Given the description of an element on the screen output the (x, y) to click on. 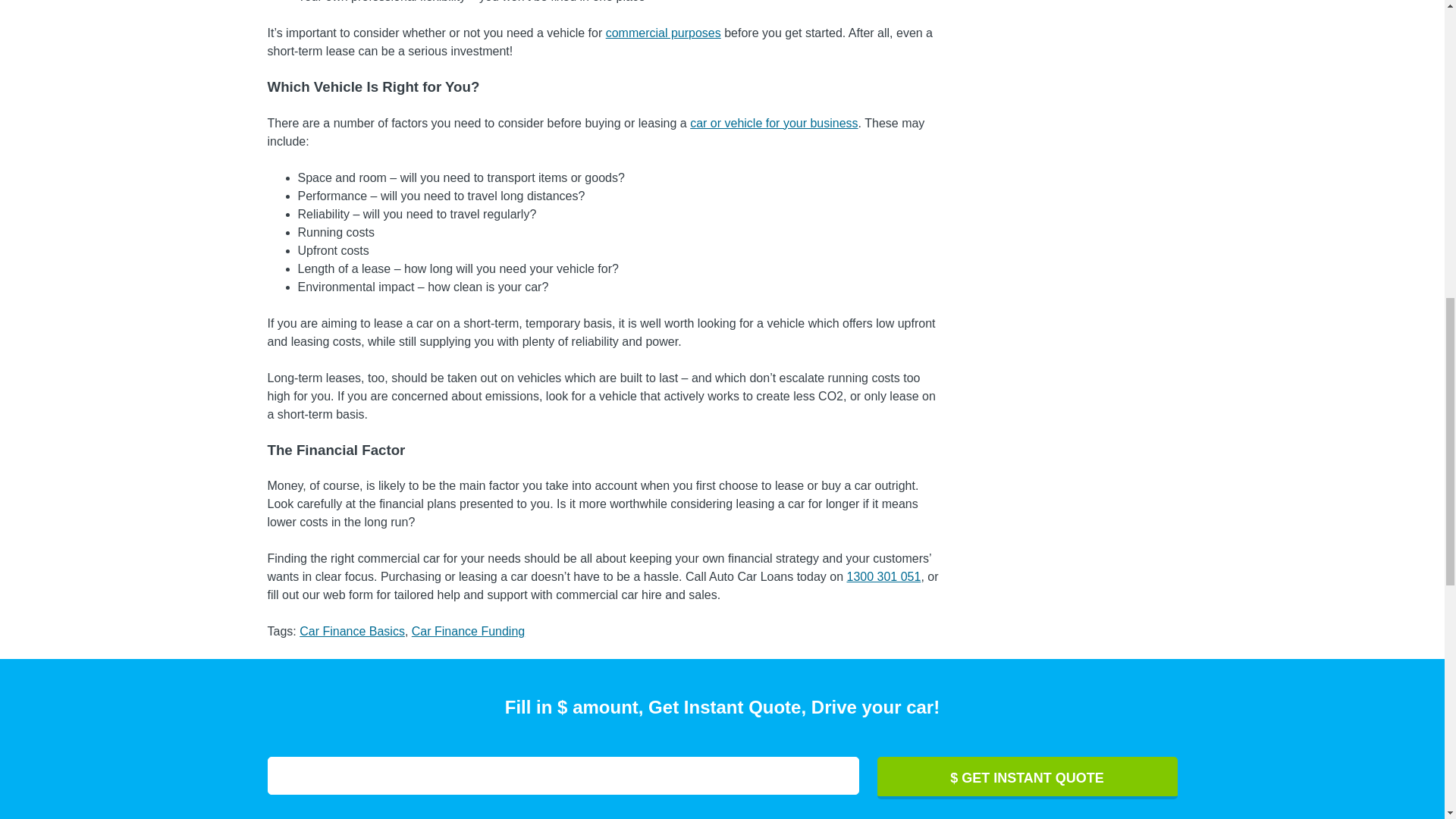
1300 301 051 (882, 576)
Car Finance Funding (468, 631)
car or vehicle for your business (773, 123)
Car Finance Basics (351, 631)
commercial purposes (662, 32)
